Given the description of an element on the screen output the (x, y) to click on. 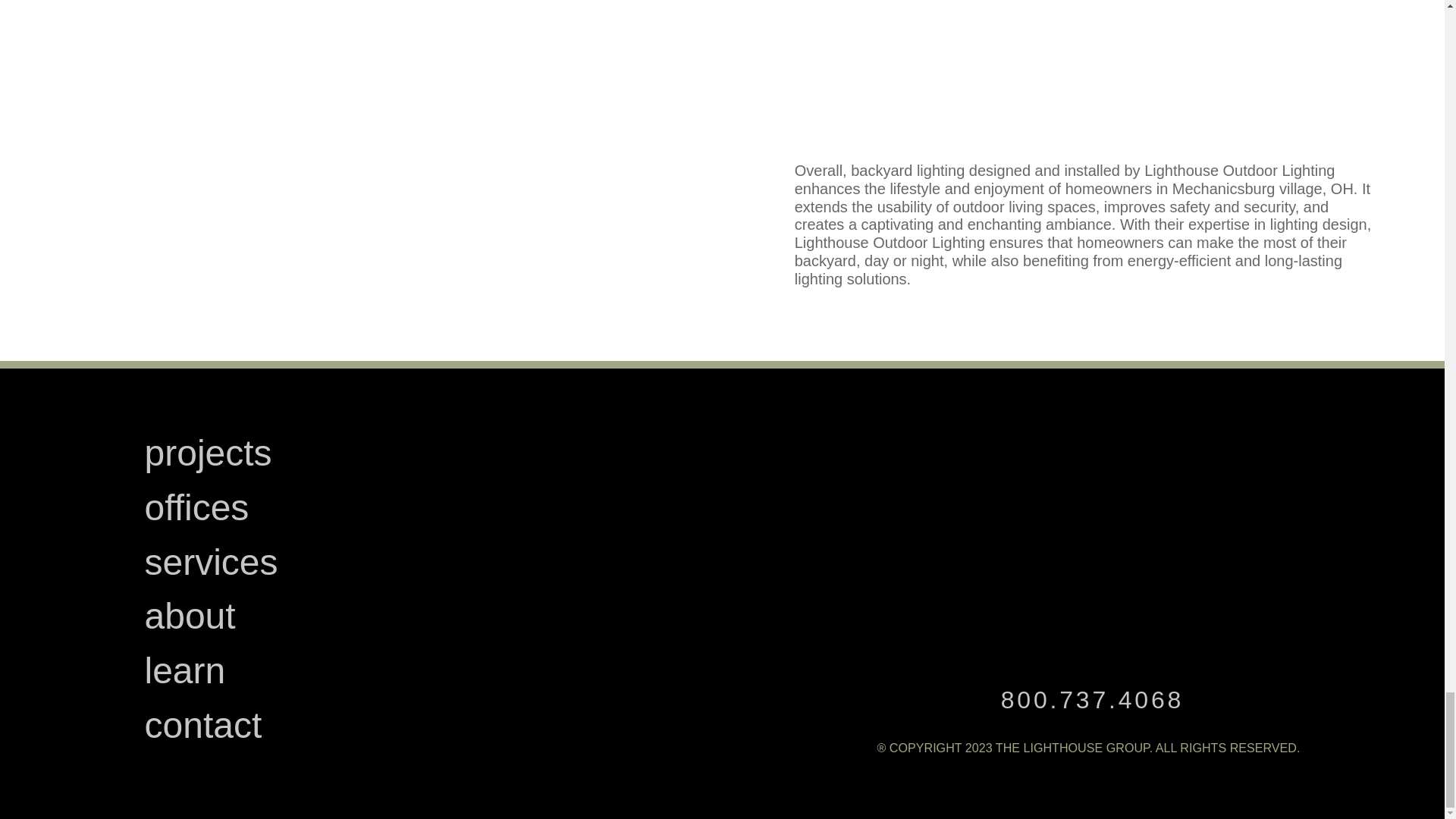
TLG Logo with name 650px gold (1088, 516)
Lighthouse logo pair gold (1100, 637)
